Given the description of an element on the screen output the (x, y) to click on. 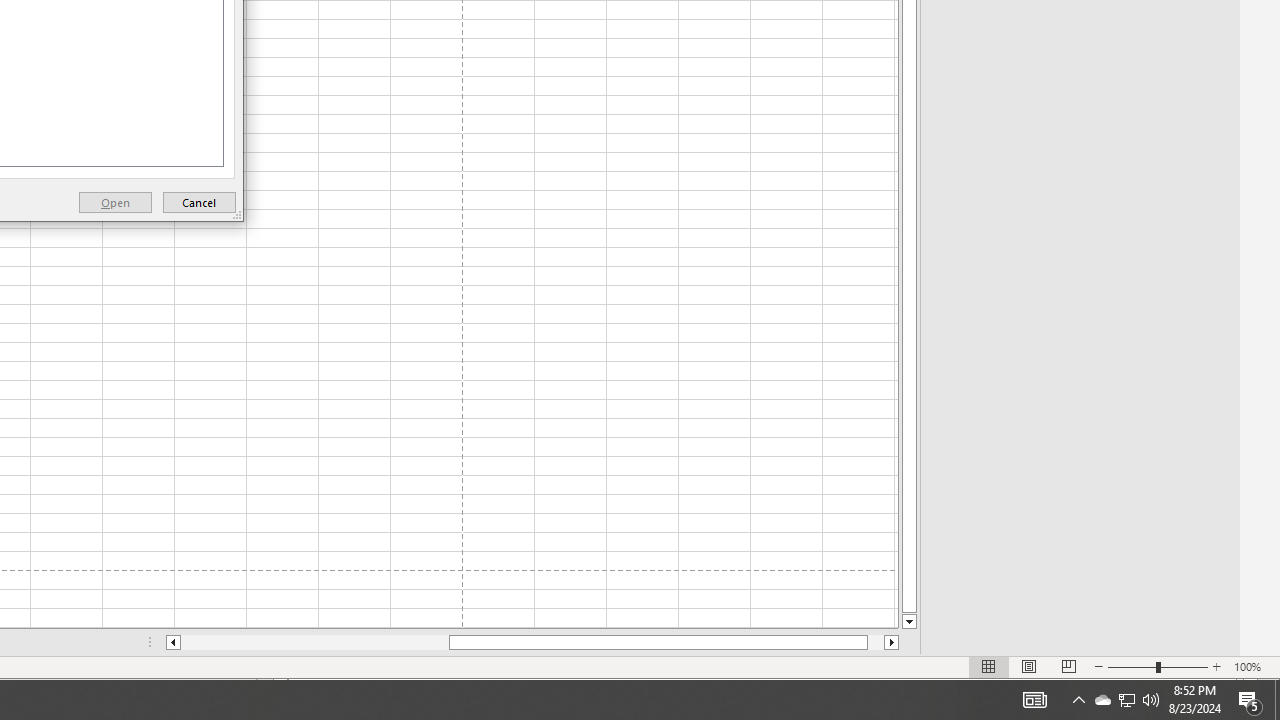
Page right (875, 642)
Page left (314, 642)
Normal (988, 667)
Show desktop (1277, 699)
Class: NetUIScrollBar (532, 642)
Line down (1102, 699)
